Given the description of an element on the screen output the (x, y) to click on. 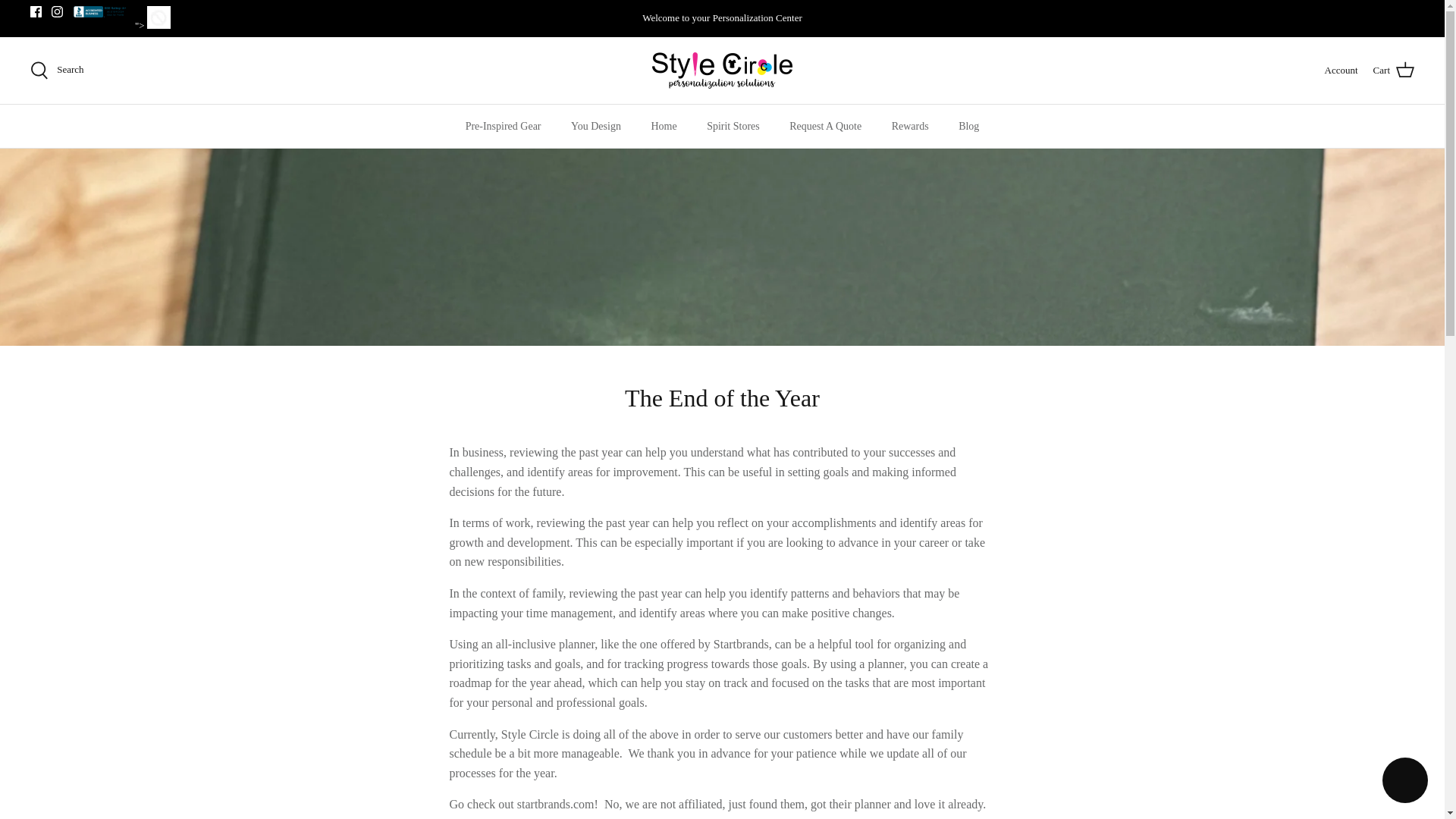
Facebook (36, 11)
Cart (1393, 70)
Search (57, 70)
Instagram (56, 11)
Style Circle Embroidery (722, 70)
Account (1341, 70)
Pre-Inspired Gear (502, 126)
Instagram (56, 11)
Facebook (36, 11)
Shopify online store chat (1404, 781)
